Given the description of an element on the screen output the (x, y) to click on. 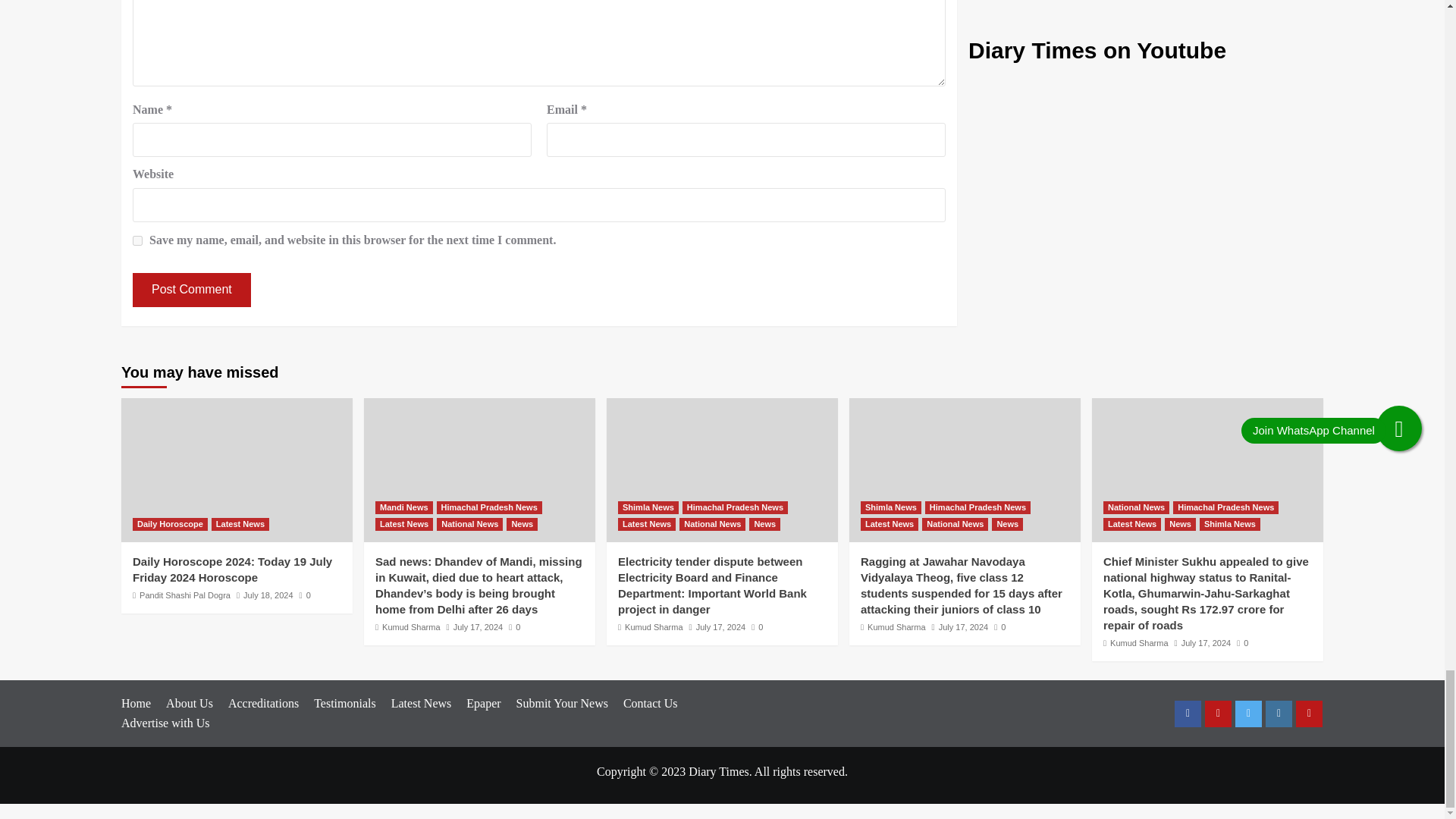
yes (137, 240)
Post Comment (191, 289)
